Given the description of an element on the screen output the (x, y) to click on. 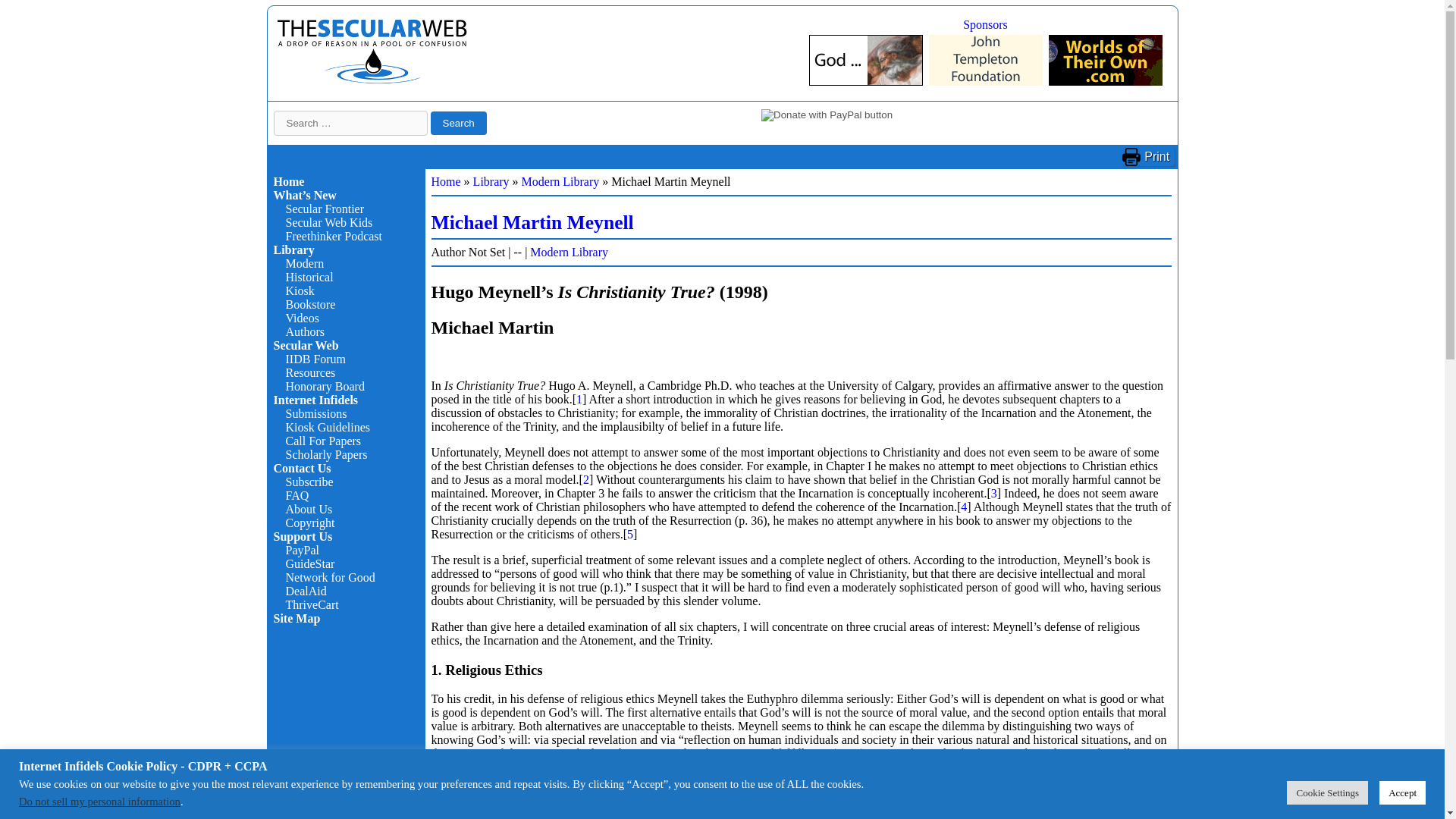
Honorary Board (324, 386)
Search (458, 123)
Freethinker Podcast (333, 236)
Network for Good (329, 576)
Search (458, 123)
Search (458, 123)
Library (293, 249)
Michael Martin Meynell (531, 222)
Secular Web (305, 345)
Sponsors (984, 24)
Kiosk (299, 290)
Bookstore (309, 304)
Copyright (309, 522)
Videos (301, 318)
Historical (309, 277)
